Given the description of an element on the screen output the (x, y) to click on. 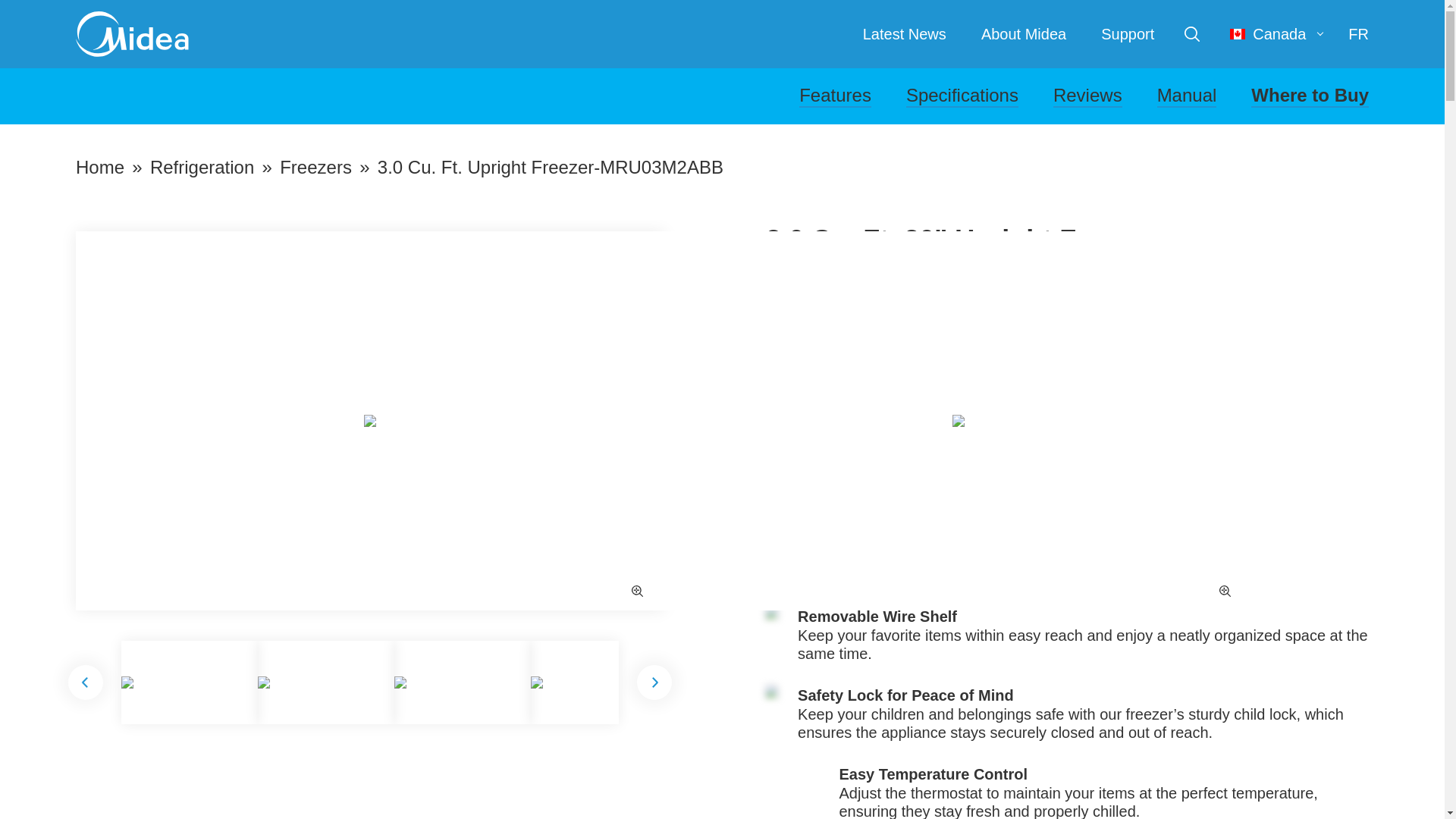
Canada (1277, 34)
About Midea (1023, 33)
Home (99, 167)
FR (1358, 33)
Refrigeration (201, 167)
3.0 Cu. Ft. Upright Freezer-MRU03M2ABB (550, 167)
Features (834, 96)
Support (1127, 33)
Latest News (904, 33)
Freezers (315, 167)
